Given the description of an element on the screen output the (x, y) to click on. 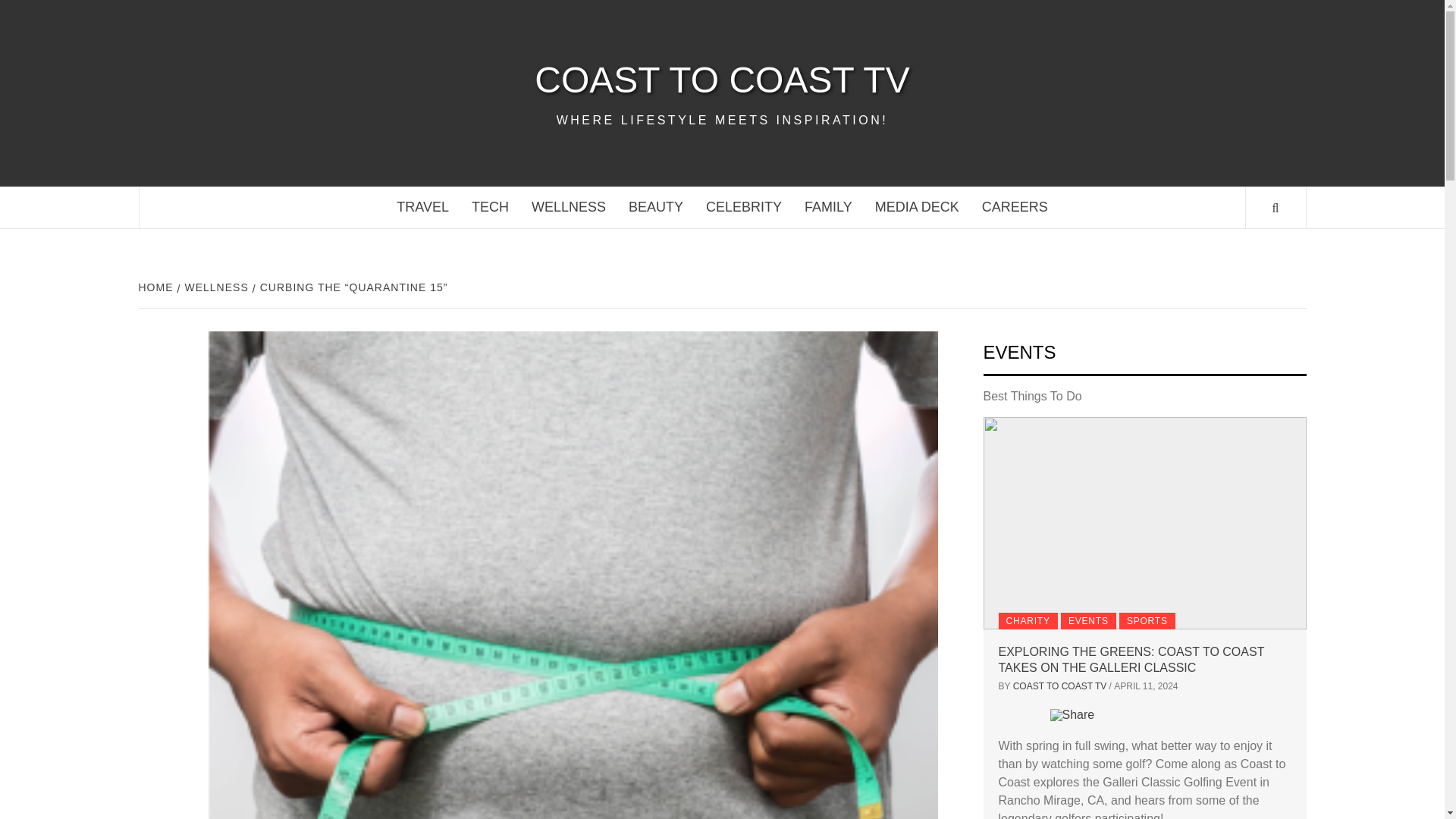
TECH (489, 207)
FAMILY (828, 207)
COAST TO COAST TV (721, 80)
WELLNESS (568, 207)
WELLNESS (214, 287)
MEDIA DECK (917, 207)
HOME (157, 287)
BEAUTY (655, 207)
CELEBRITY (743, 207)
TRAVEL (422, 207)
CAREERS (1015, 207)
